Given the description of an element on the screen output the (x, y) to click on. 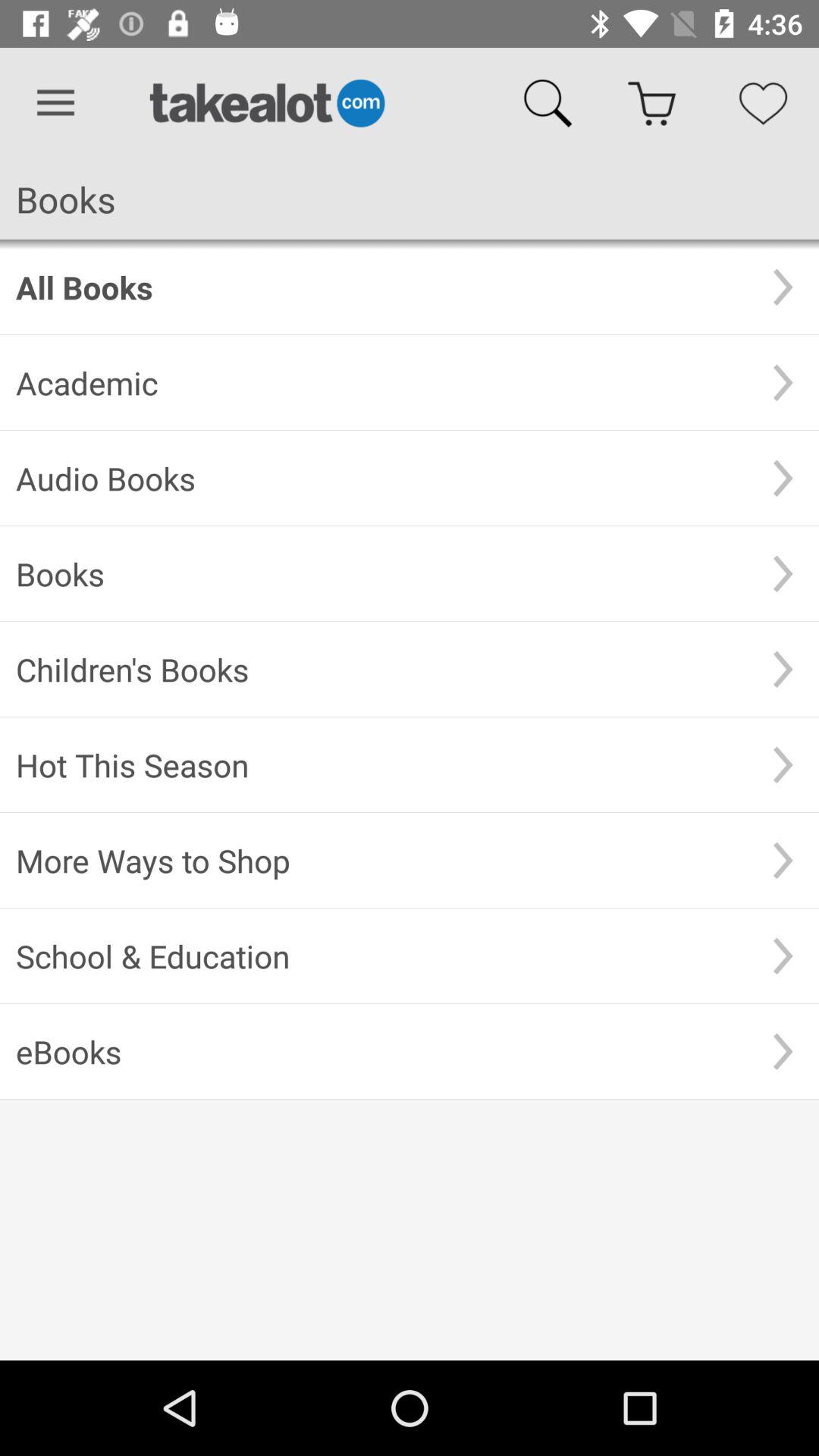
turn off hot this season icon (381, 764)
